Given the description of an element on the screen output the (x, y) to click on. 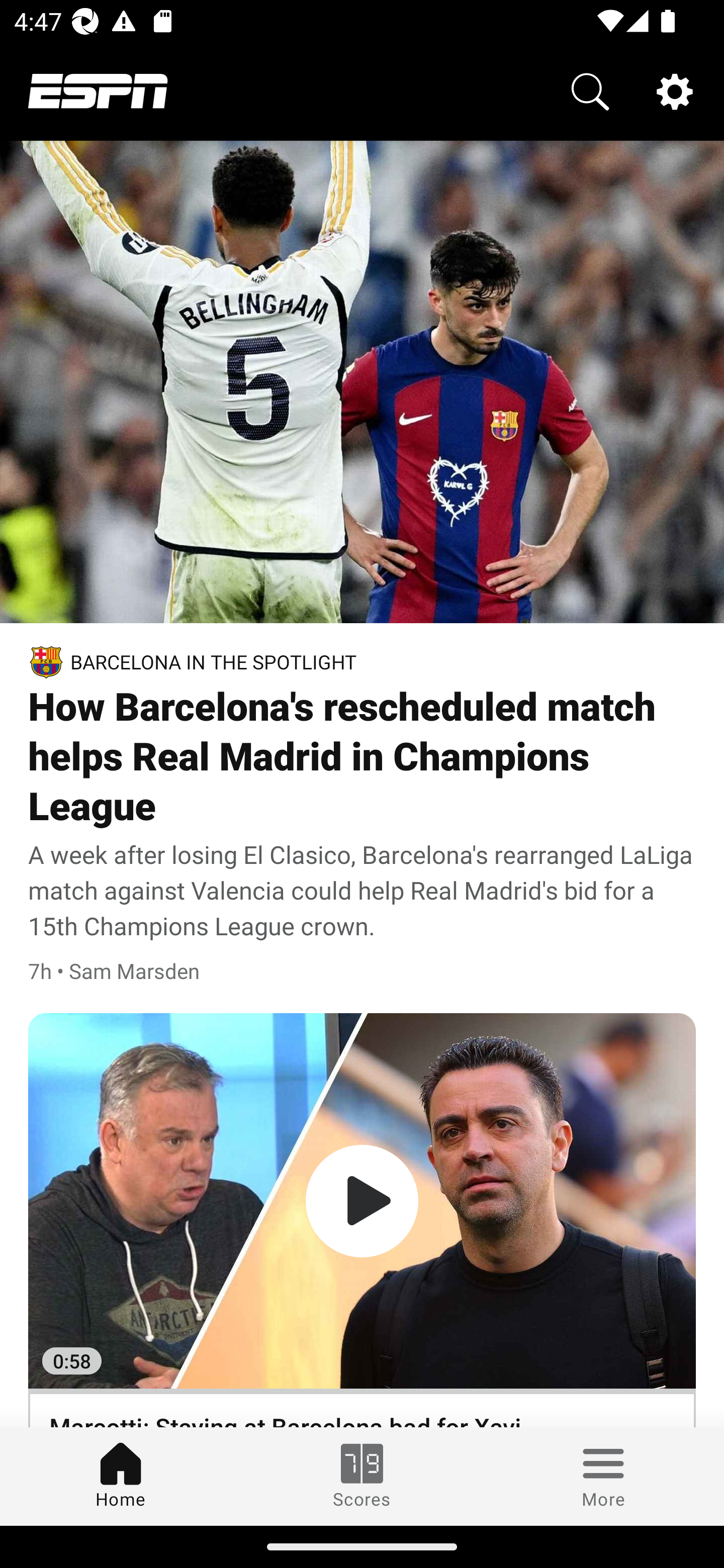
Search (590, 90)
Settings (674, 90)
 0:58 Marcotti: Staying at Barcelona bad for Xavi (361, 1219)
Scores (361, 1475)
More (603, 1475)
